Given the description of an element on the screen output the (x, y) to click on. 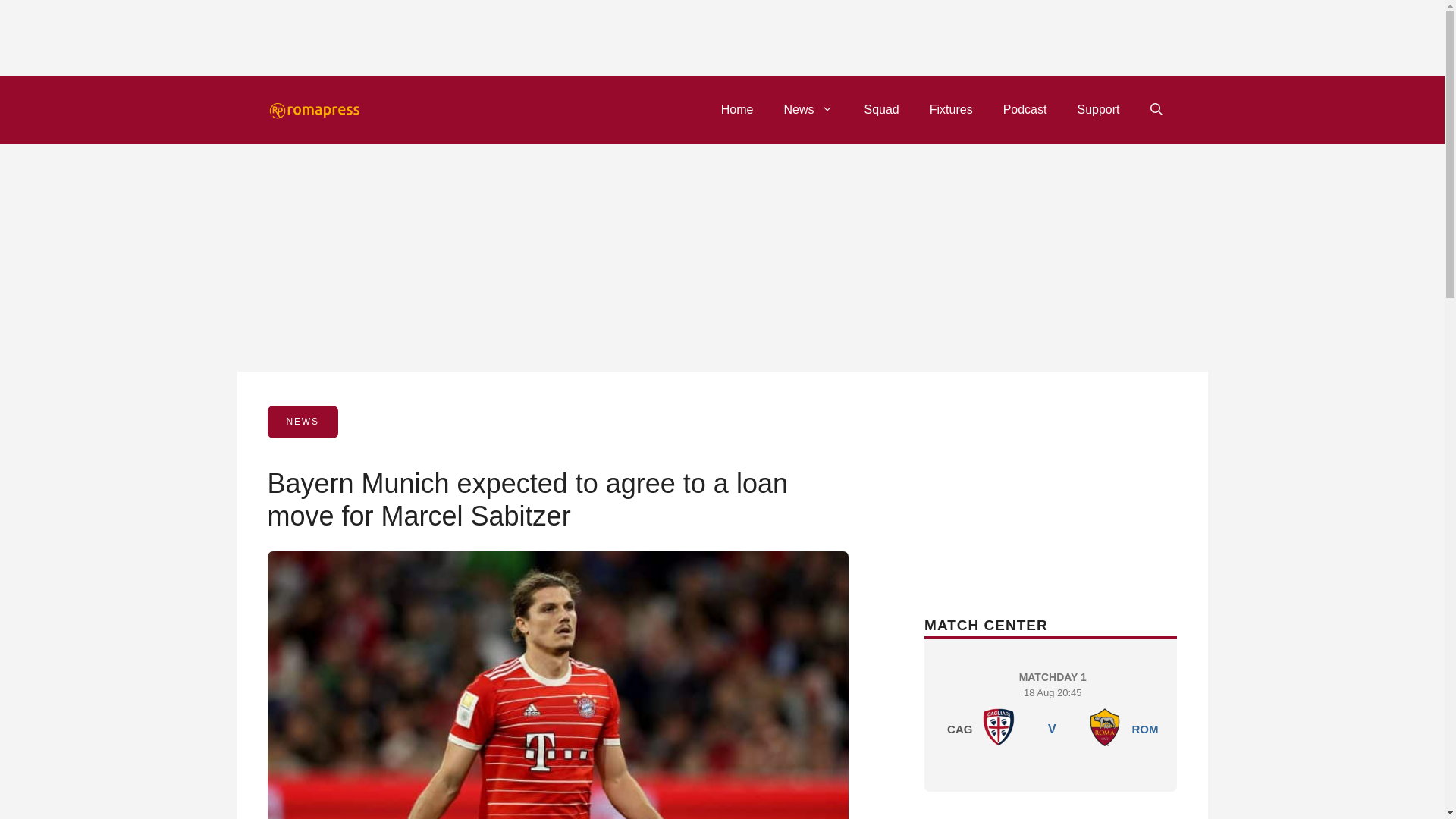
News (808, 109)
Cagliari (1052, 710)
Fixtures (998, 727)
Podcast (951, 109)
Squad (1025, 109)
ROM (881, 109)
Support (1144, 728)
Home (1097, 109)
Roma (737, 109)
